Given the description of an element on the screen output the (x, y) to click on. 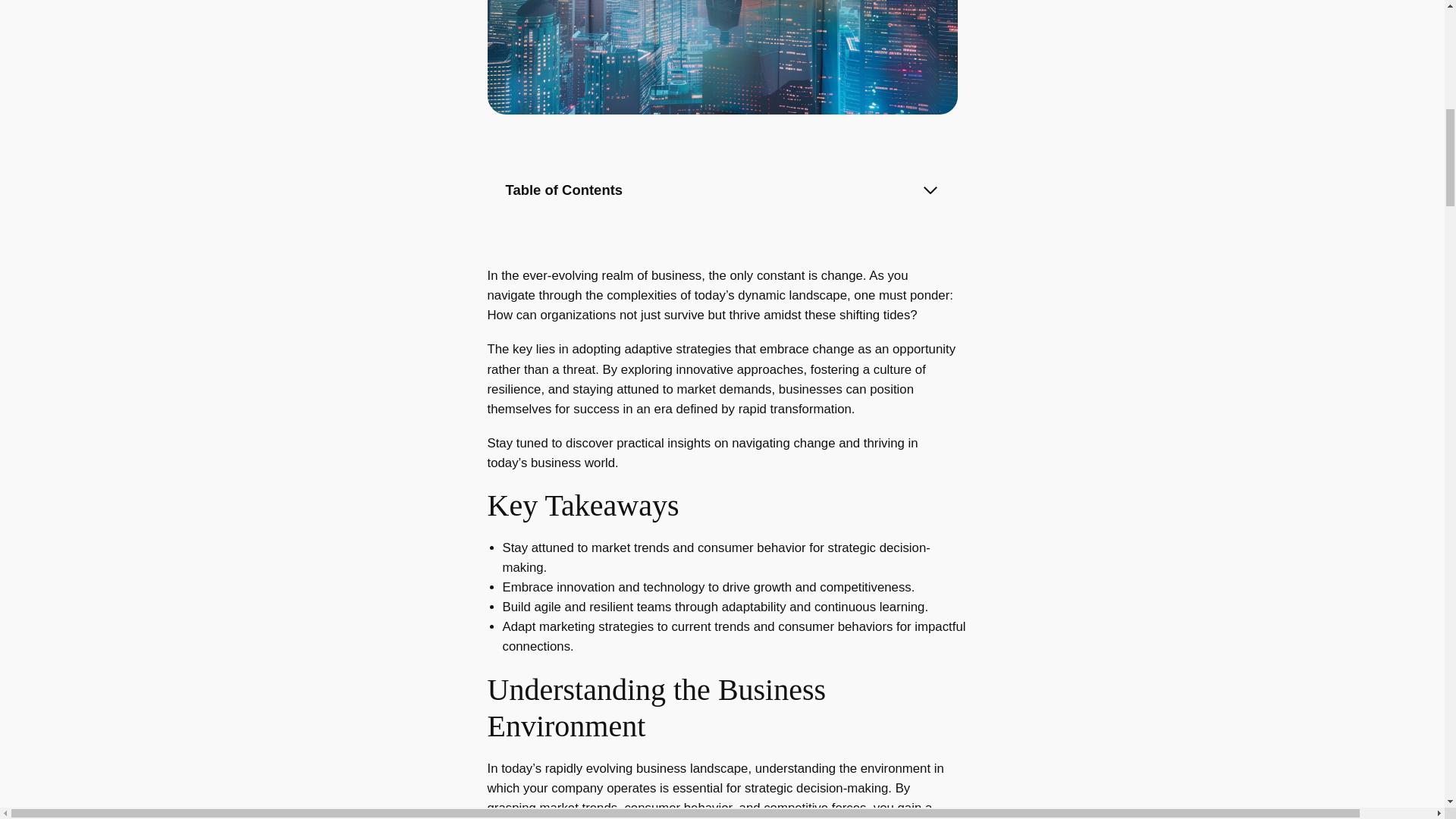
Table of Contents (722, 189)
